Given the description of an element on the screen output the (x, y) to click on. 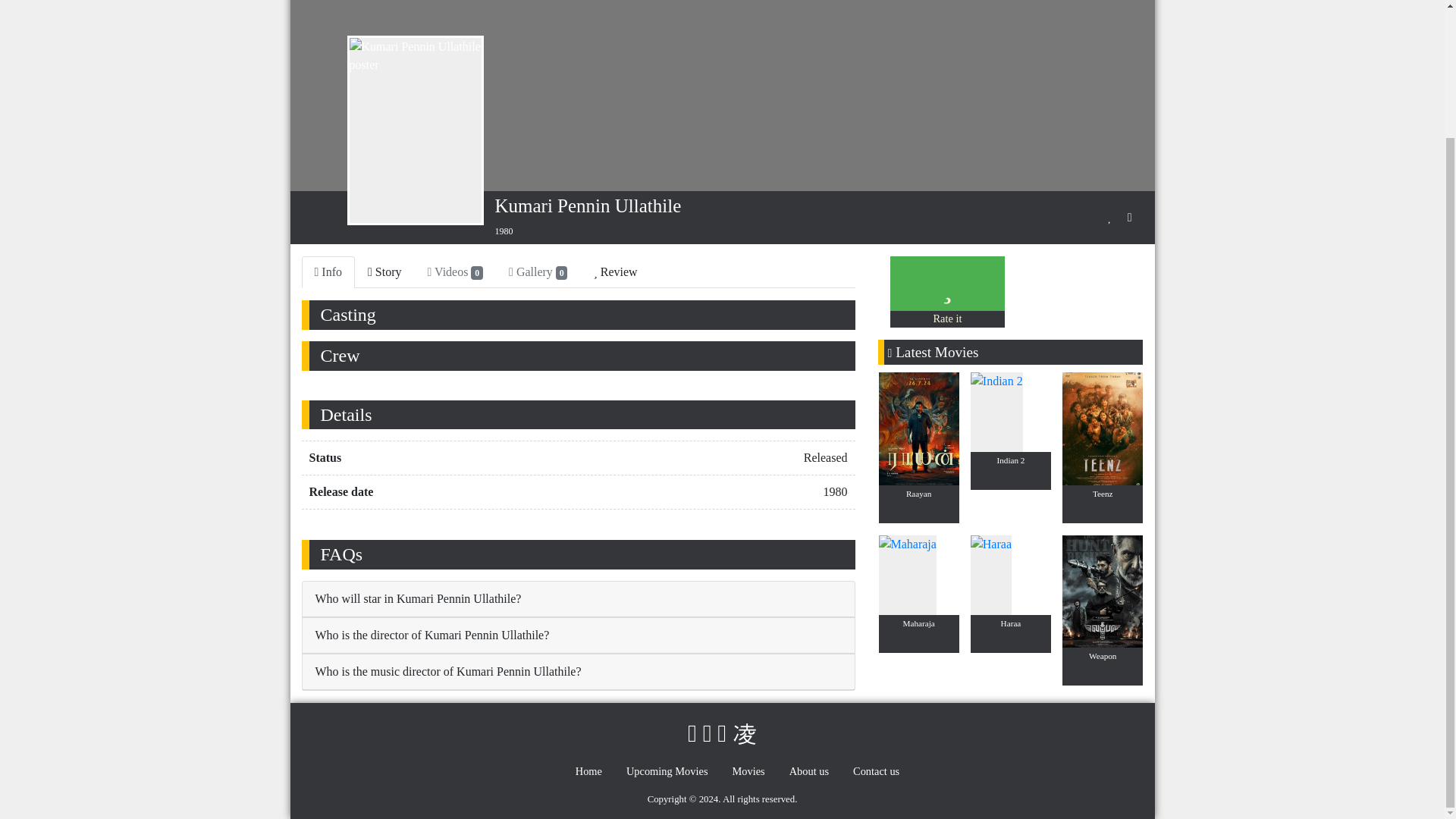
Rate it (946, 318)
